Given the description of an element on the screen output the (x, y) to click on. 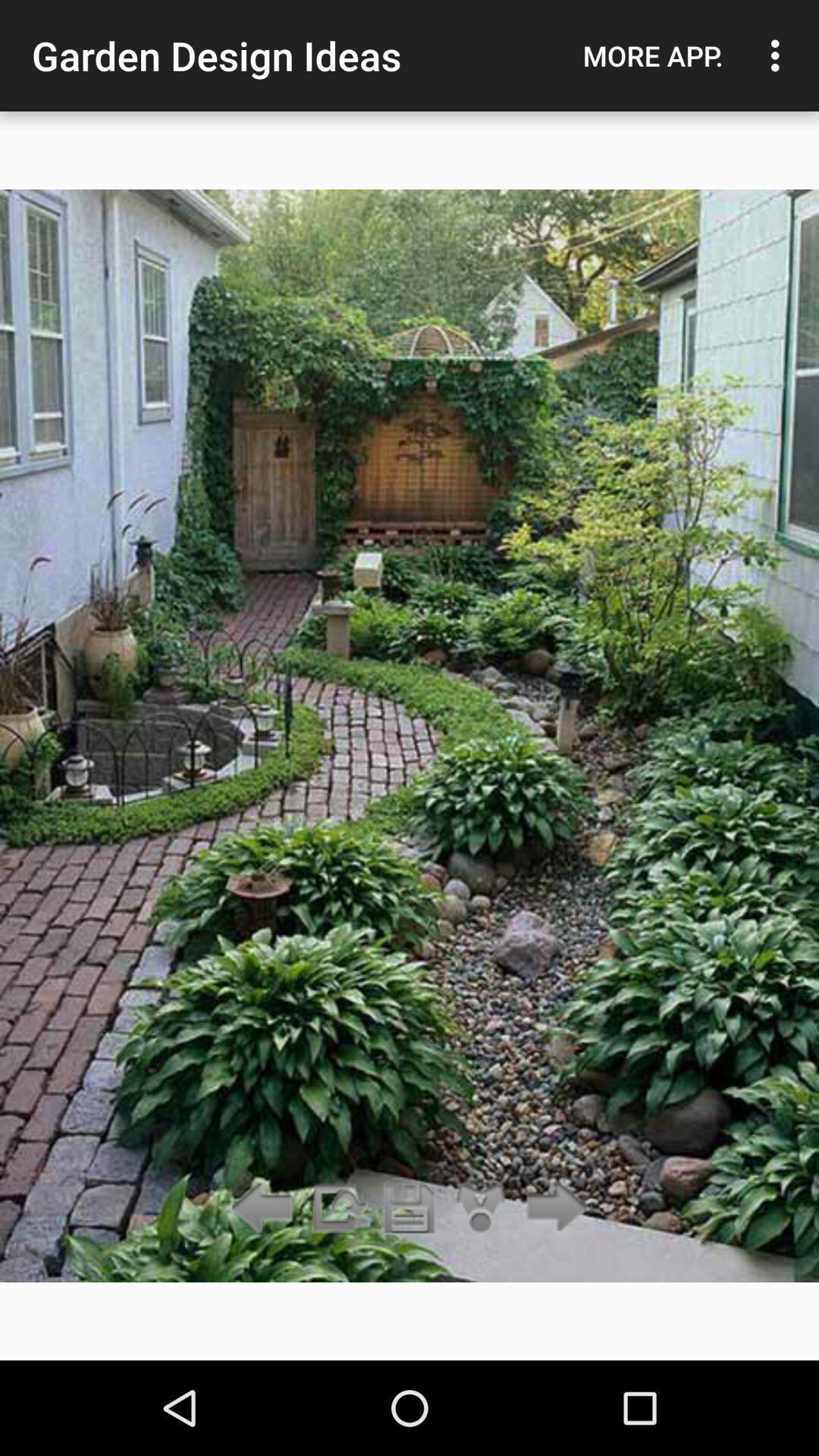
launch icon below garden design ideas item (409, 1208)
